Given the description of an element on the screen output the (x, y) to click on. 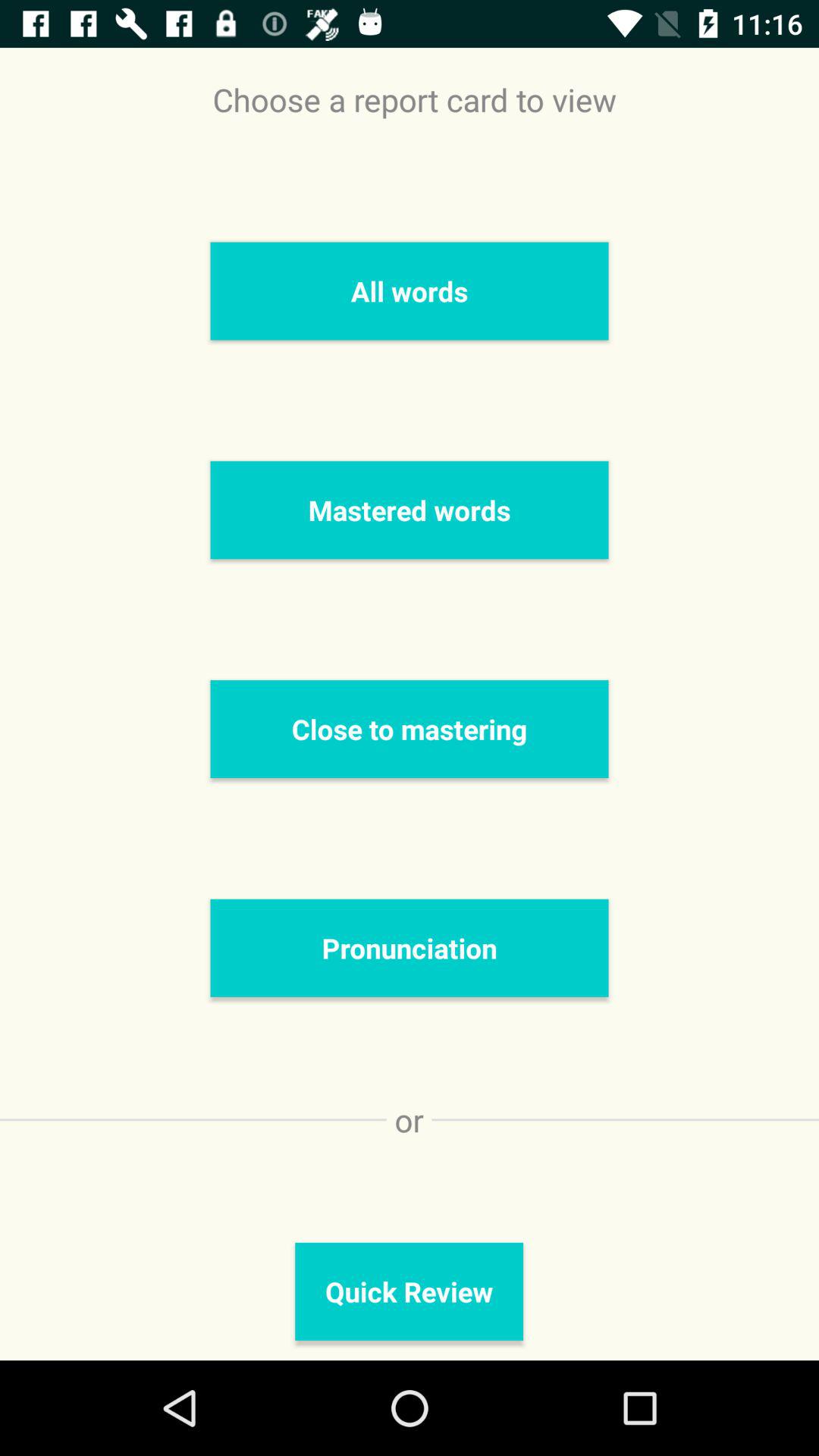
flip until quick review item (409, 1291)
